Given the description of an element on the screen output the (x, y) to click on. 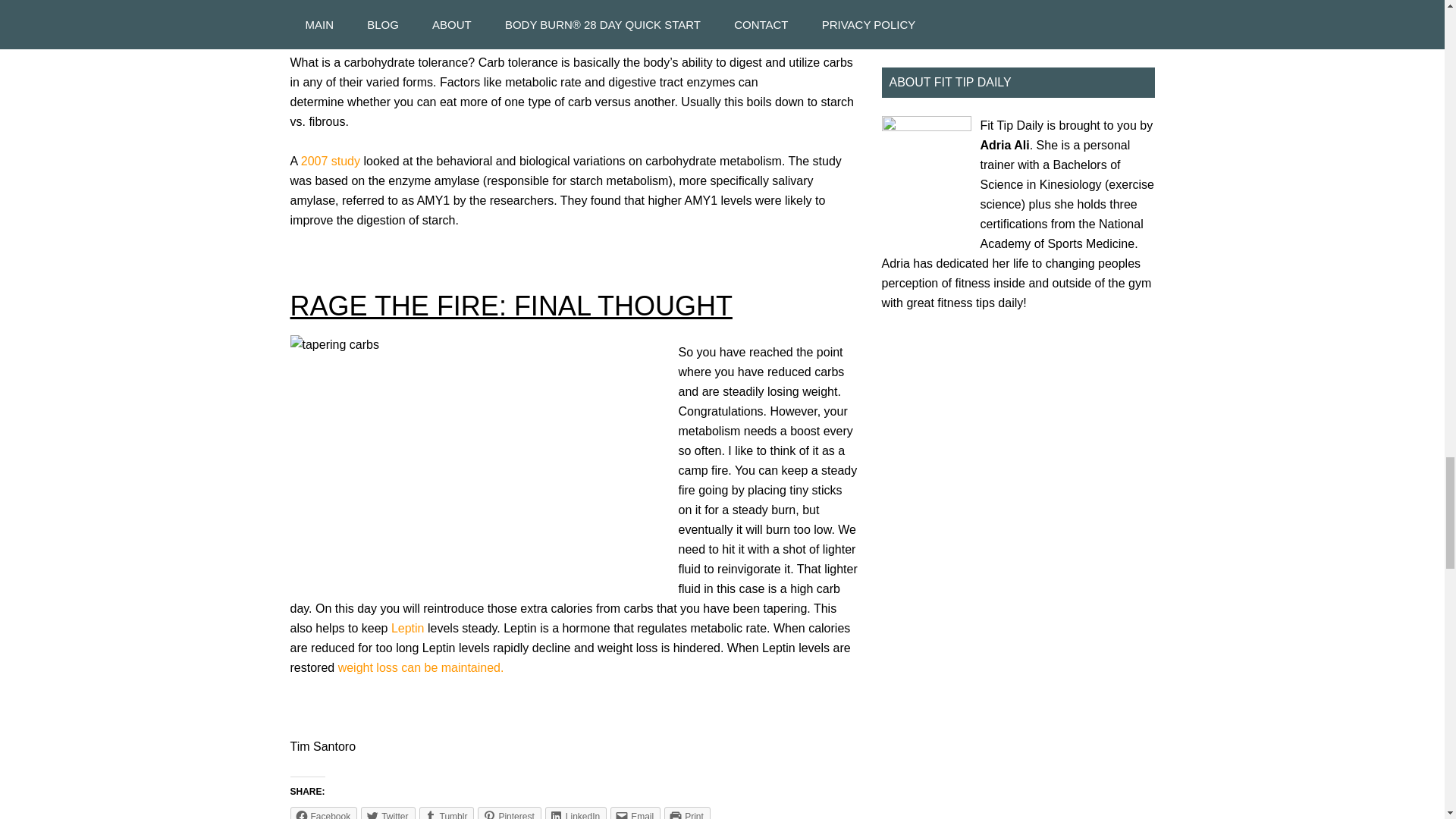
Click to print (686, 812)
Pinterest (508, 812)
Click to email this to a friend (635, 812)
Tumblr (446, 812)
2007 study (332, 160)
Click to share on Facebook (322, 812)
Email (635, 812)
Print (686, 812)
Facebook (322, 812)
weight loss can be maintained. (420, 667)
Leptin (409, 627)
Click to share on Twitter (387, 812)
Click to share on LinkedIn (575, 812)
Twitter (387, 812)
LinkedIn (575, 812)
